Given the description of an element on the screen output the (x, y) to click on. 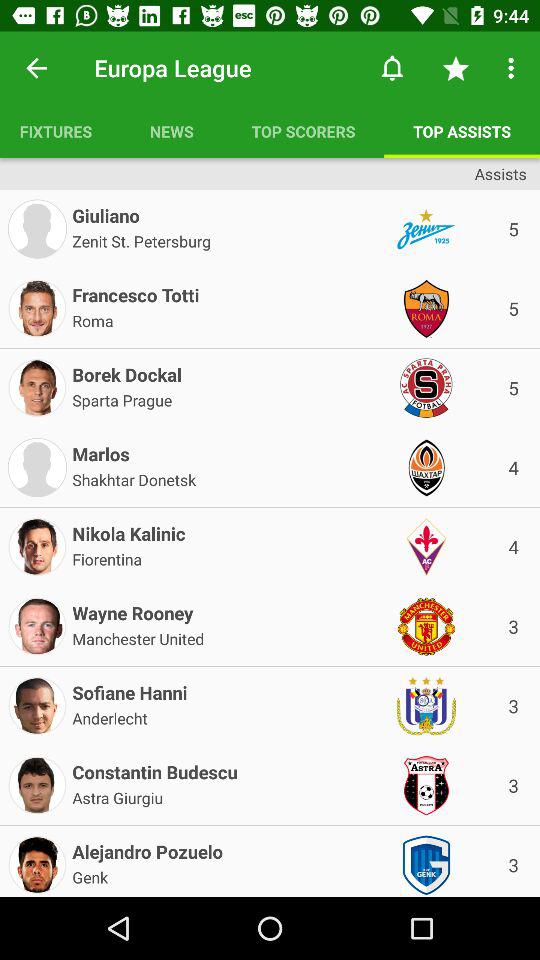
jump until nikola kalinic item (128, 530)
